Given the description of an element on the screen output the (x, y) to click on. 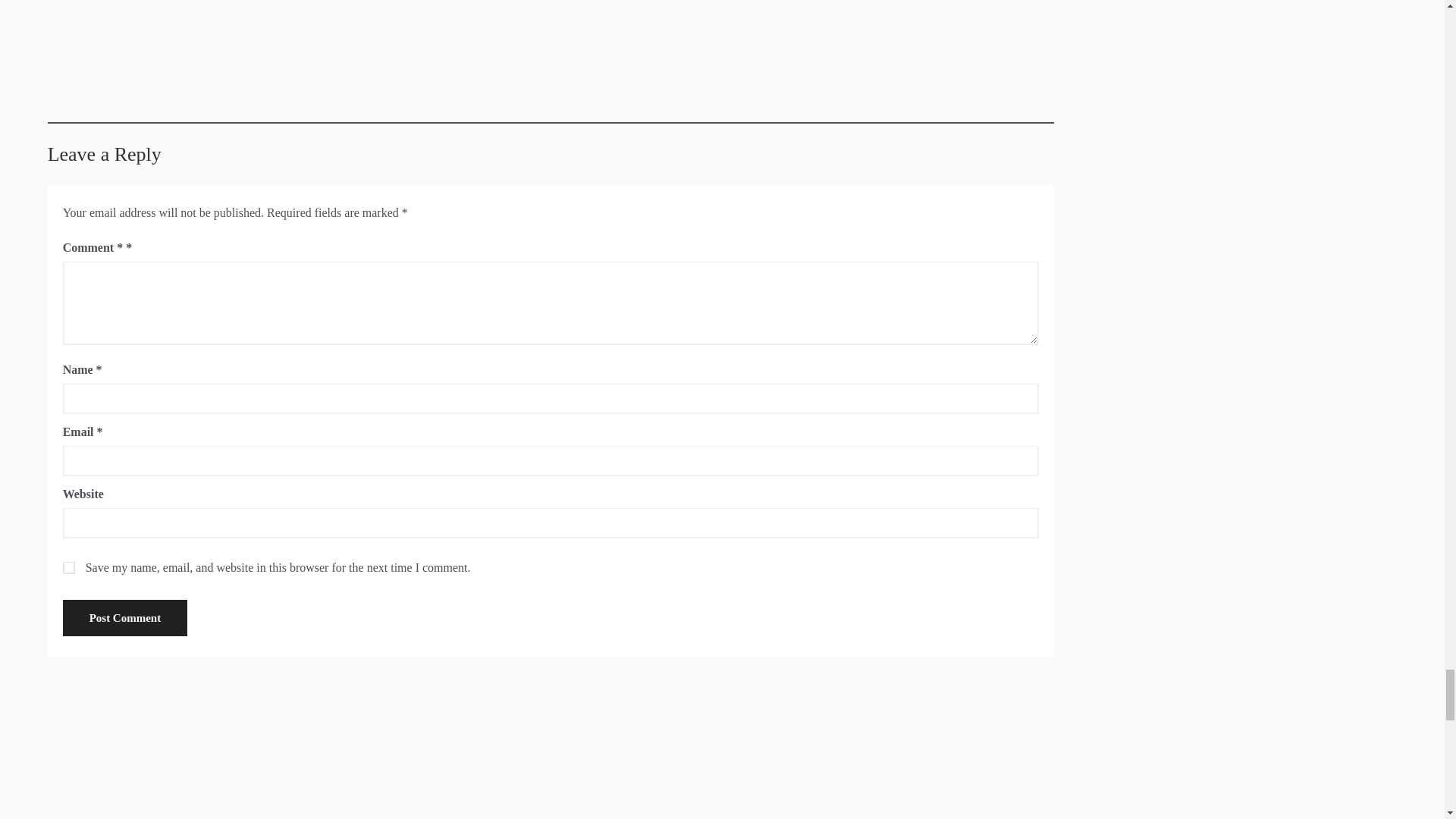
Post Comment (124, 617)
yes (68, 567)
Post Comment (124, 617)
